Given the description of an element on the screen output the (x, y) to click on. 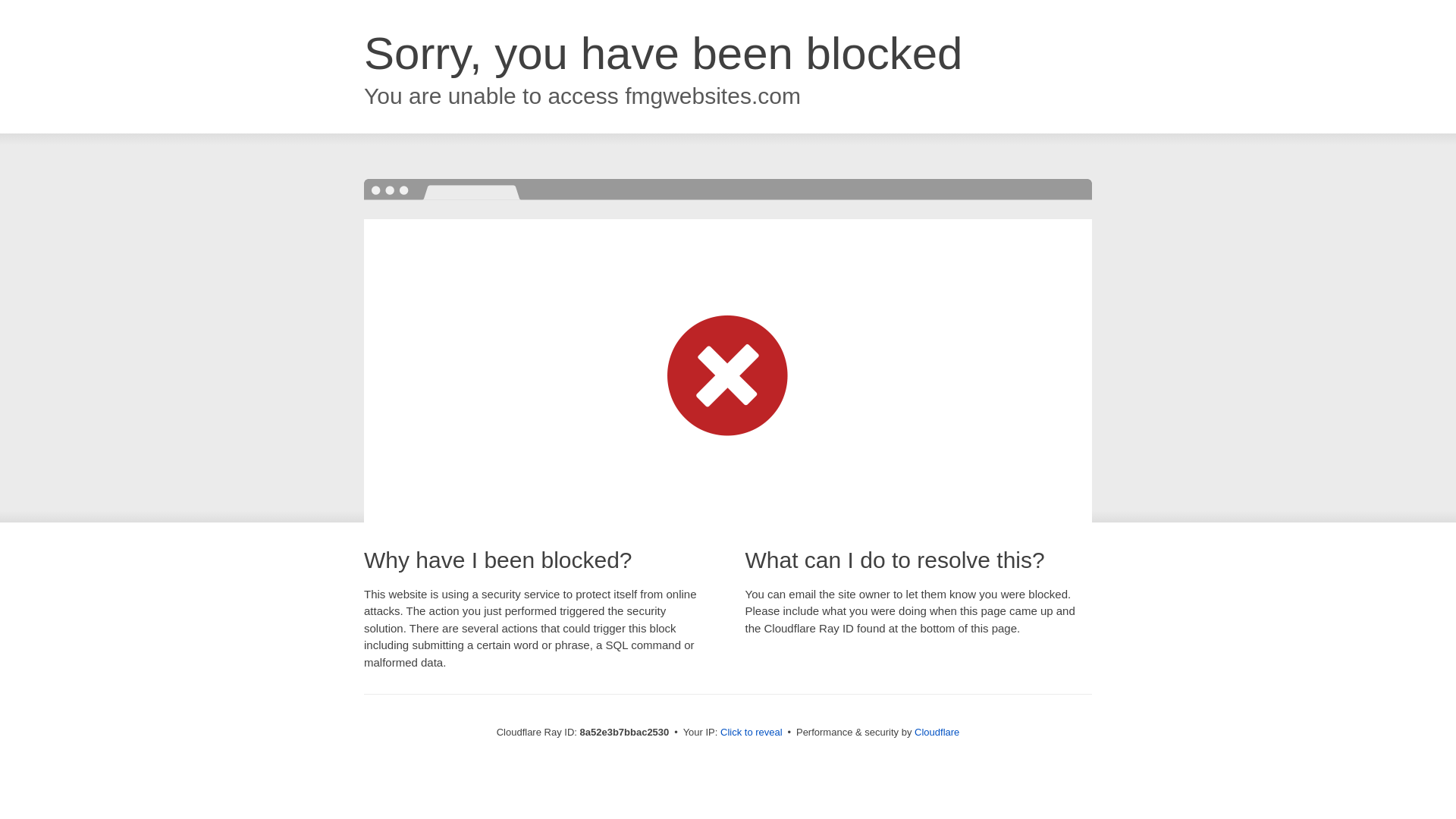
Cloudflare (936, 731)
Click to reveal (751, 732)
